Given the description of an element on the screen output the (x, y) to click on. 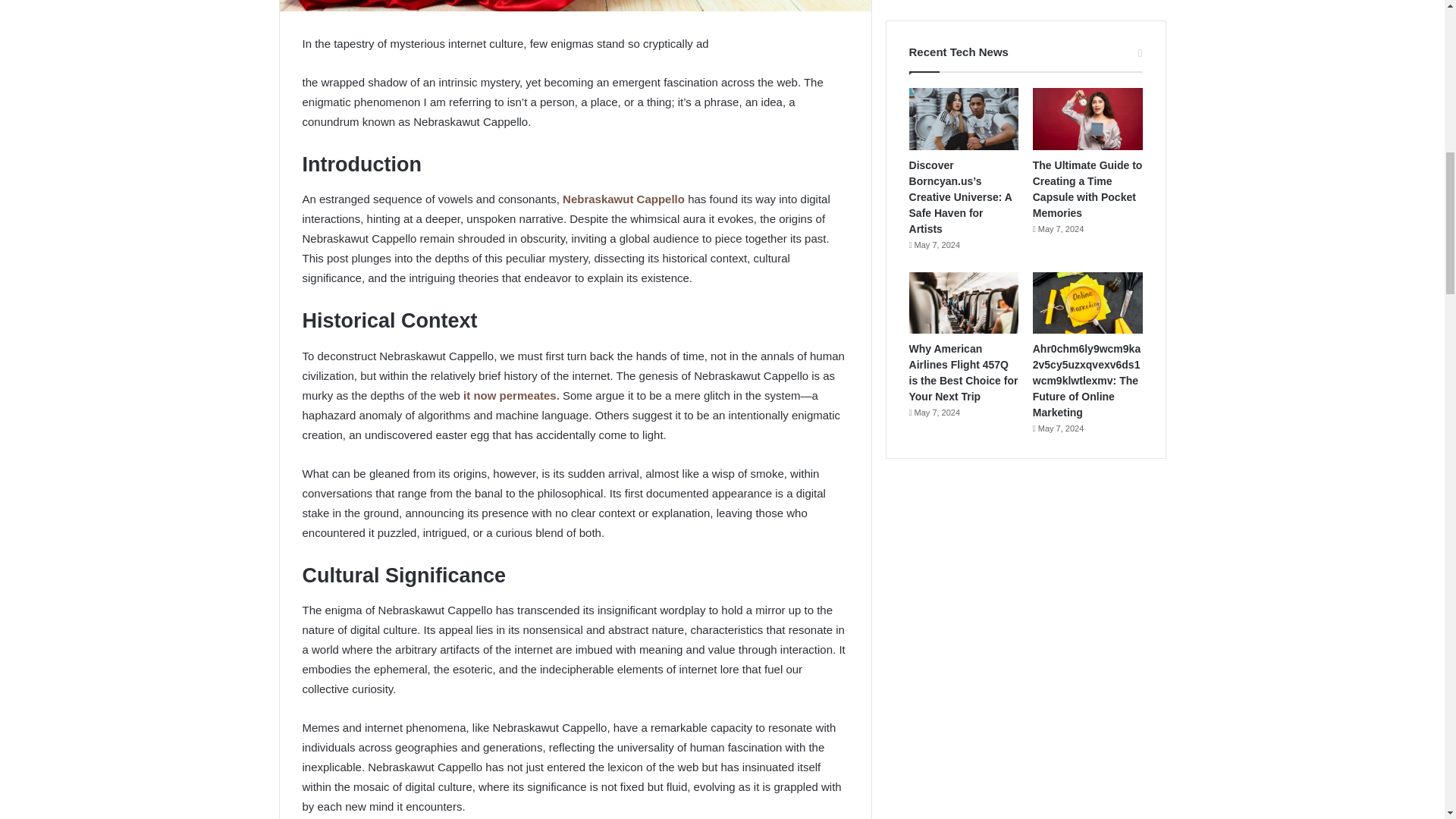
it now permeates. (509, 395)
Nebraskawut Cappello (624, 198)
